Given the description of an element on the screen output the (x, y) to click on. 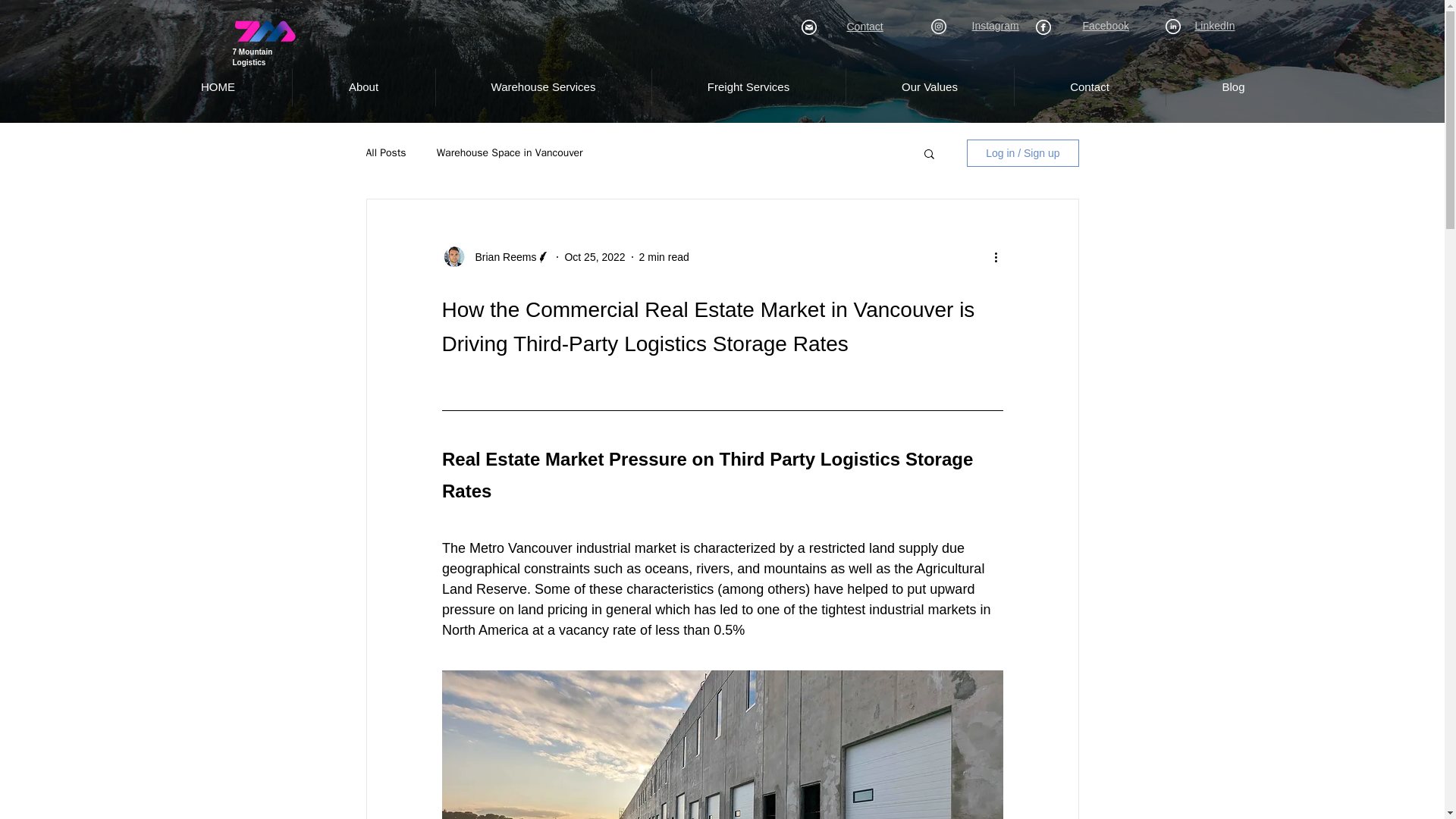
Facebook (1106, 25)
Contact (1088, 86)
HOME (217, 86)
Freight Services (747, 86)
All Posts (385, 152)
Warehouse Services (542, 86)
Our Values (928, 86)
Blog (1232, 86)
2 min read (663, 256)
Warehouse Space in Vancouver (509, 152)
Oct 25, 2022 (594, 256)
About (362, 86)
Contact (863, 26)
Instagram (995, 25)
Brian Reems (500, 256)
